Given the description of an element on the screen output the (x, y) to click on. 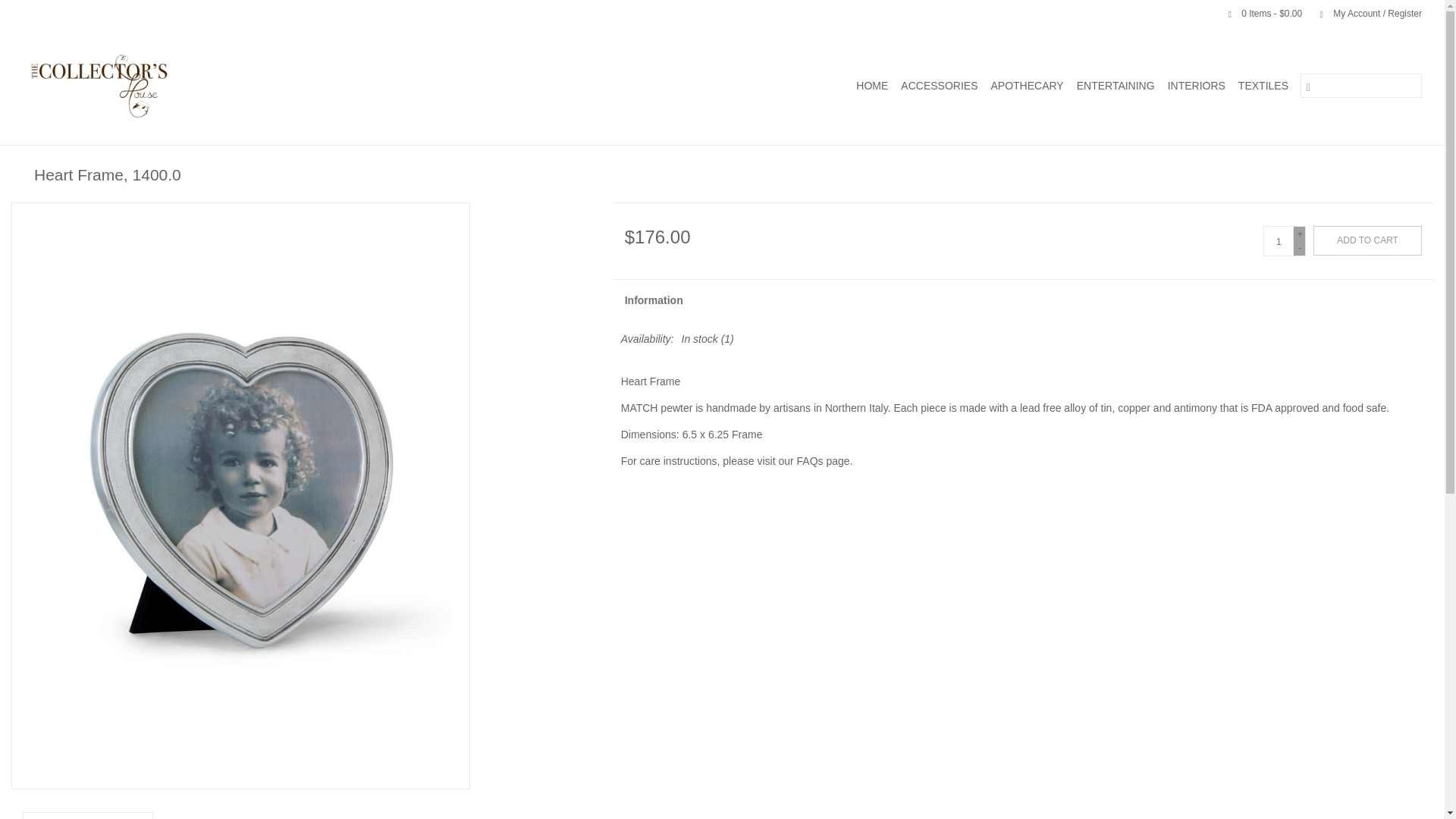
My Account (1363, 13)
1 (1278, 241)
Cart (1258, 13)
APOTHECARY (1026, 85)
INTERIORS (1196, 85)
The Collector's House (170, 85)
ENTERTAINING (1114, 85)
Accessories (938, 85)
ACCESSORIES (938, 85)
HOME (871, 85)
Apothecary (1026, 85)
